Given the description of an element on the screen output the (x, y) to click on. 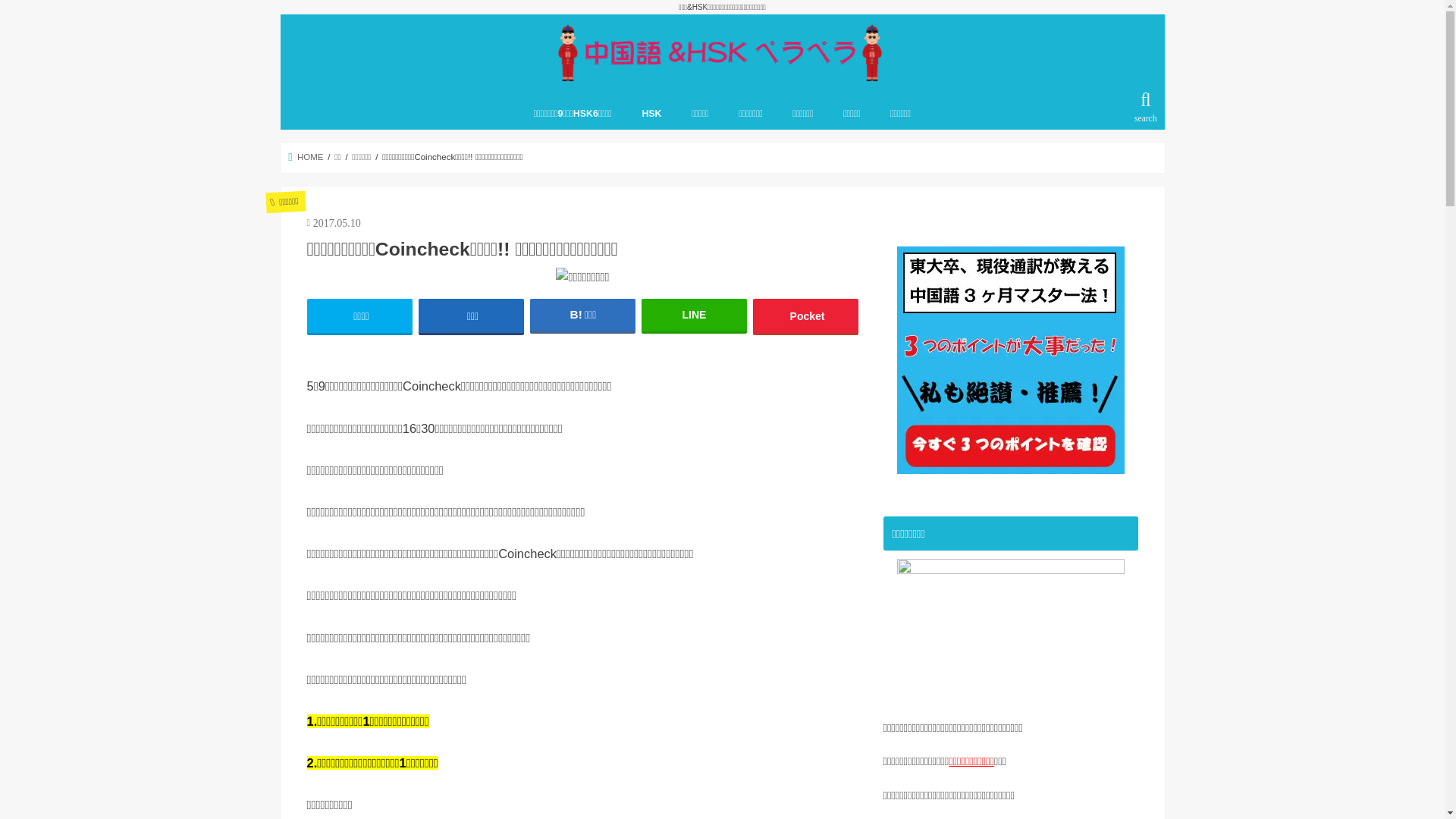
HSK Element type: text (652, 112)
Pocket Element type: text (806, 315)
LINE Element type: text (694, 314)
search Element type: text (1145, 107)
HOME Element type: text (305, 156)
